Given the description of an element on the screen output the (x, y) to click on. 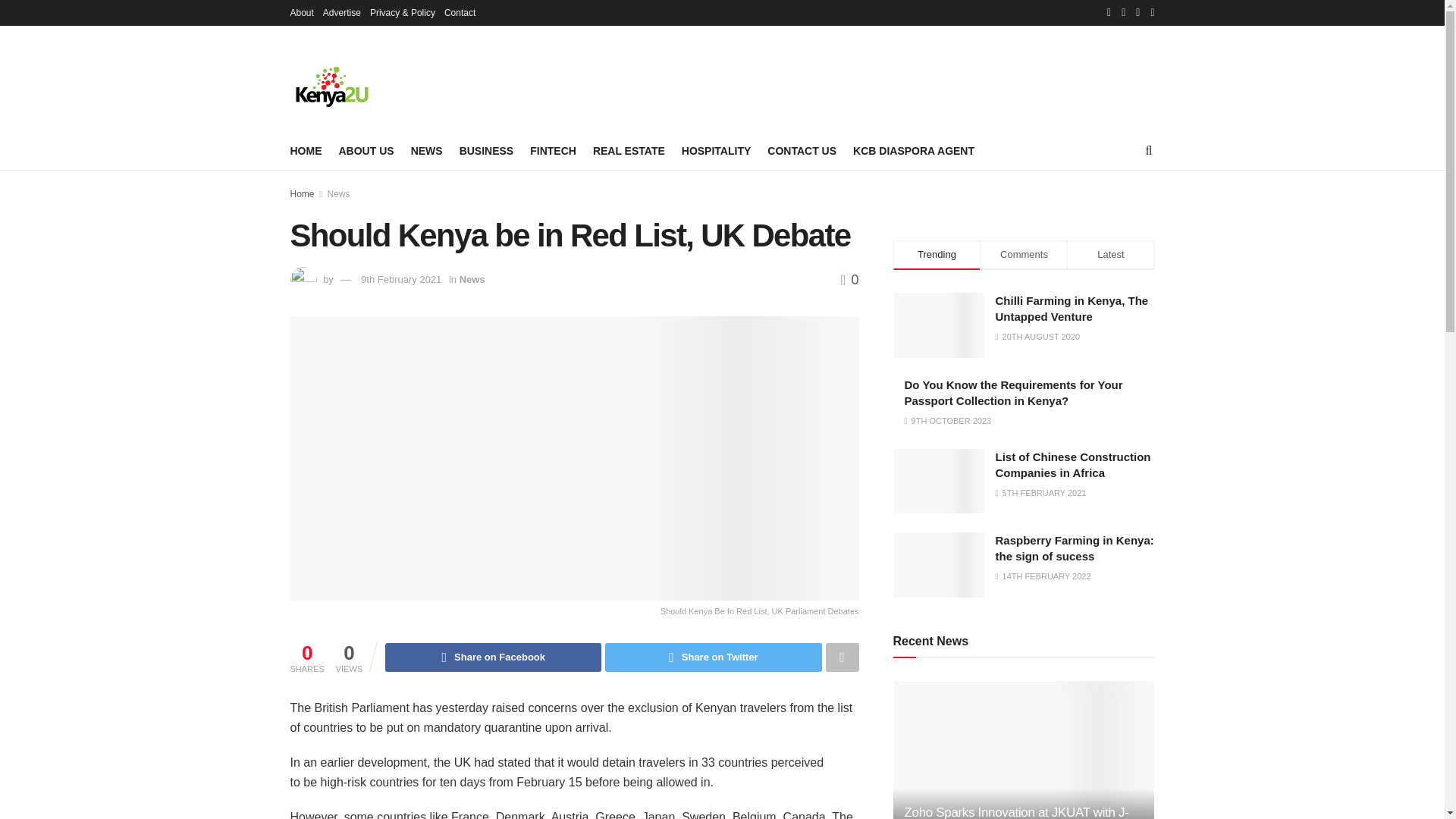
HOSPITALITY (716, 150)
News (338, 194)
FINTECH (552, 150)
ABOUT US (365, 150)
CONTACT US (801, 150)
HOME (305, 150)
NEWS (426, 150)
About (301, 12)
BUSINESS (486, 150)
Advertise (342, 12)
Home (301, 194)
KCB DIASPORA AGENT (913, 150)
9th February 2021 (401, 279)
Contact (460, 12)
REAL ESTATE (628, 150)
